Given the description of an element on the screen output the (x, y) to click on. 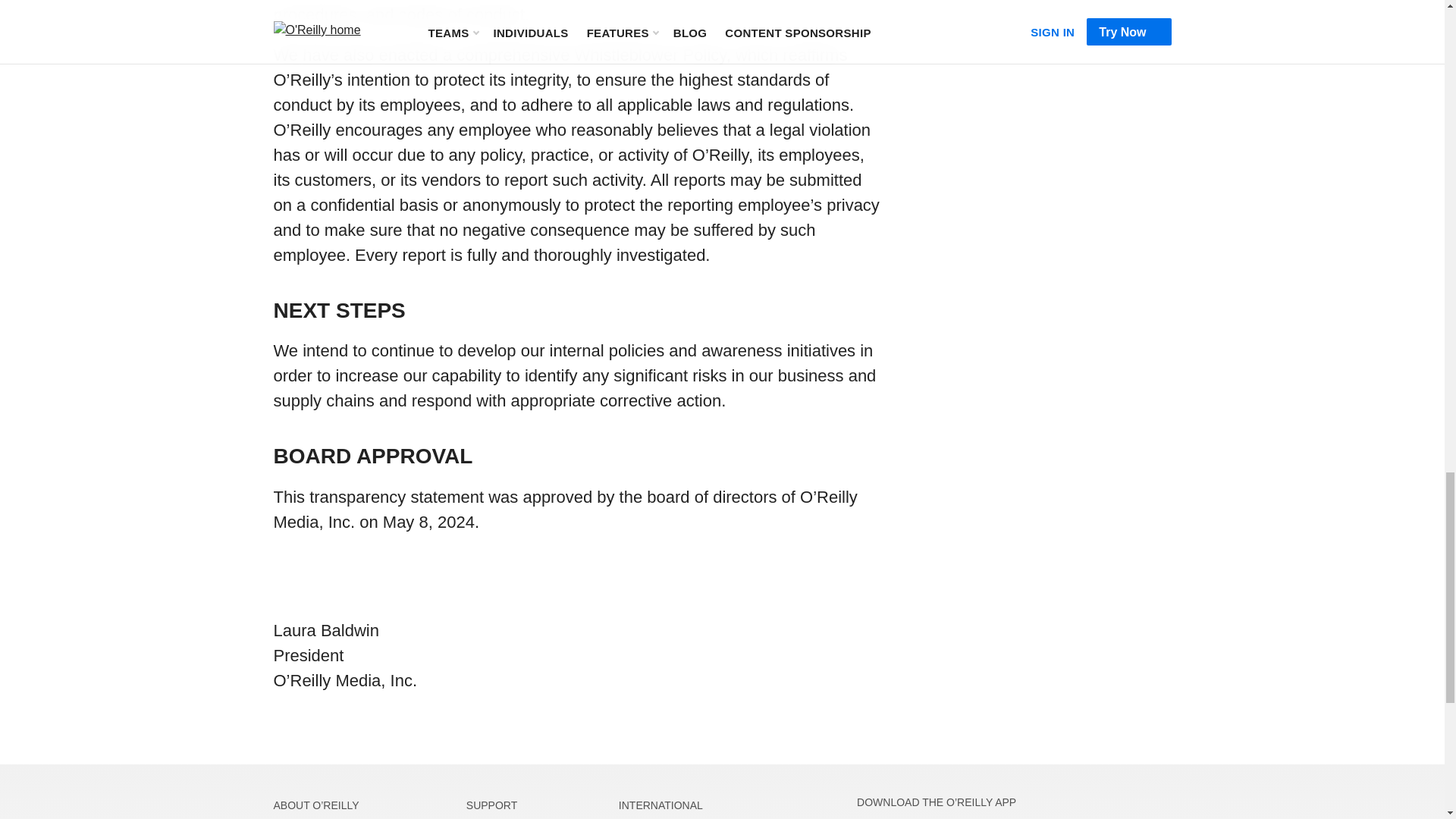
SUPPORT (490, 805)
